Given the description of an element on the screen output the (x, y) to click on. 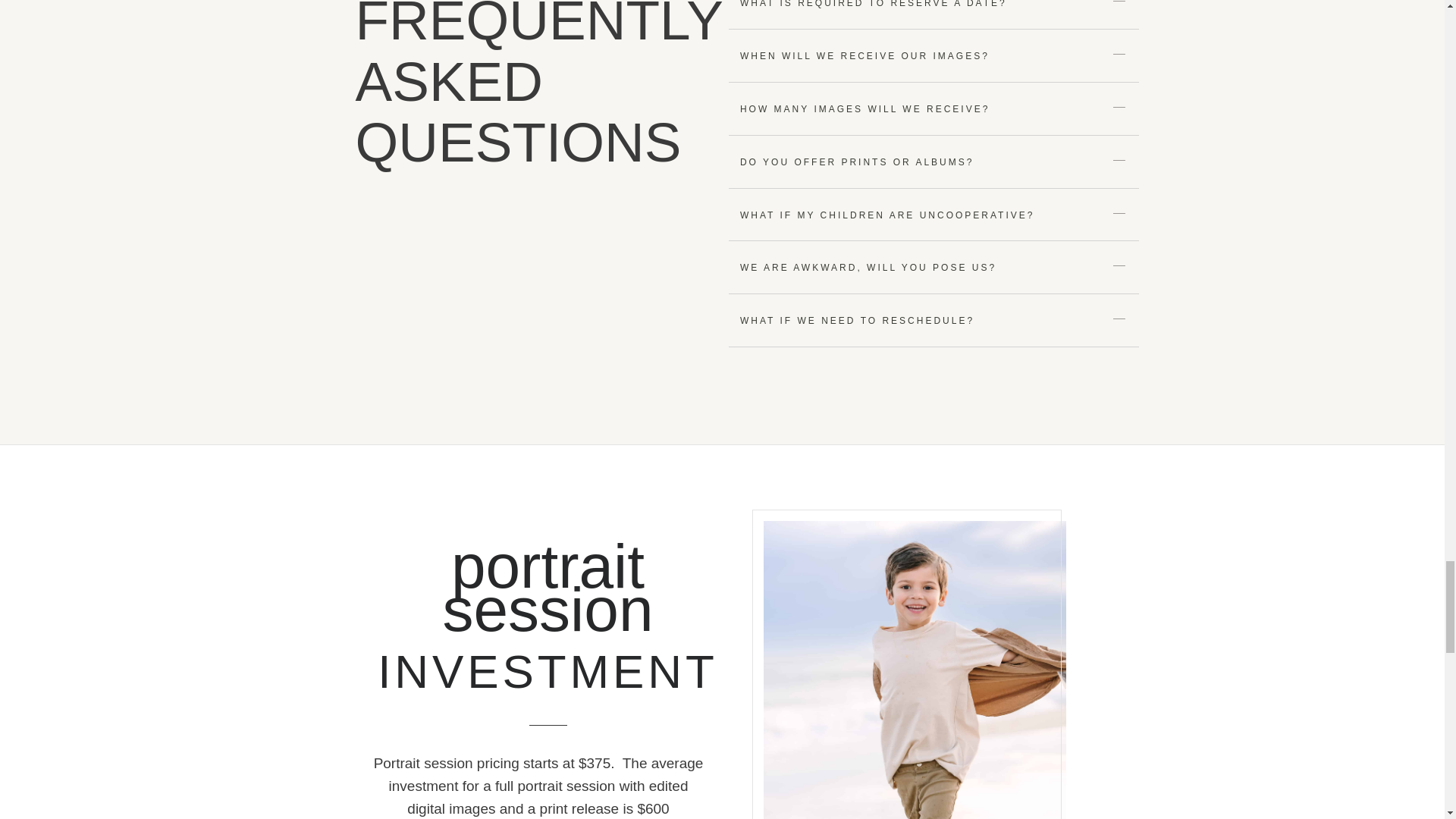
WHAT IF MY CHILDREN ARE UNCOOPERATIVE? (887, 214)
WHAT IF WE NEED TO RESCHEDULE? (856, 320)
WHEN WILL WE RECEIVE OUR IMAGES? (864, 55)
HOW MANY IMAGES WILL WE RECEIVE? (864, 109)
DO YOU OFFER PRINTS OR ALBUMS? (856, 162)
WE ARE AWKWARD, WILL YOU POSE US? (867, 267)
WHAT IS REQUIRED TO RESERVE A DATE? (873, 4)
